Given the description of an element on the screen output the (x, y) to click on. 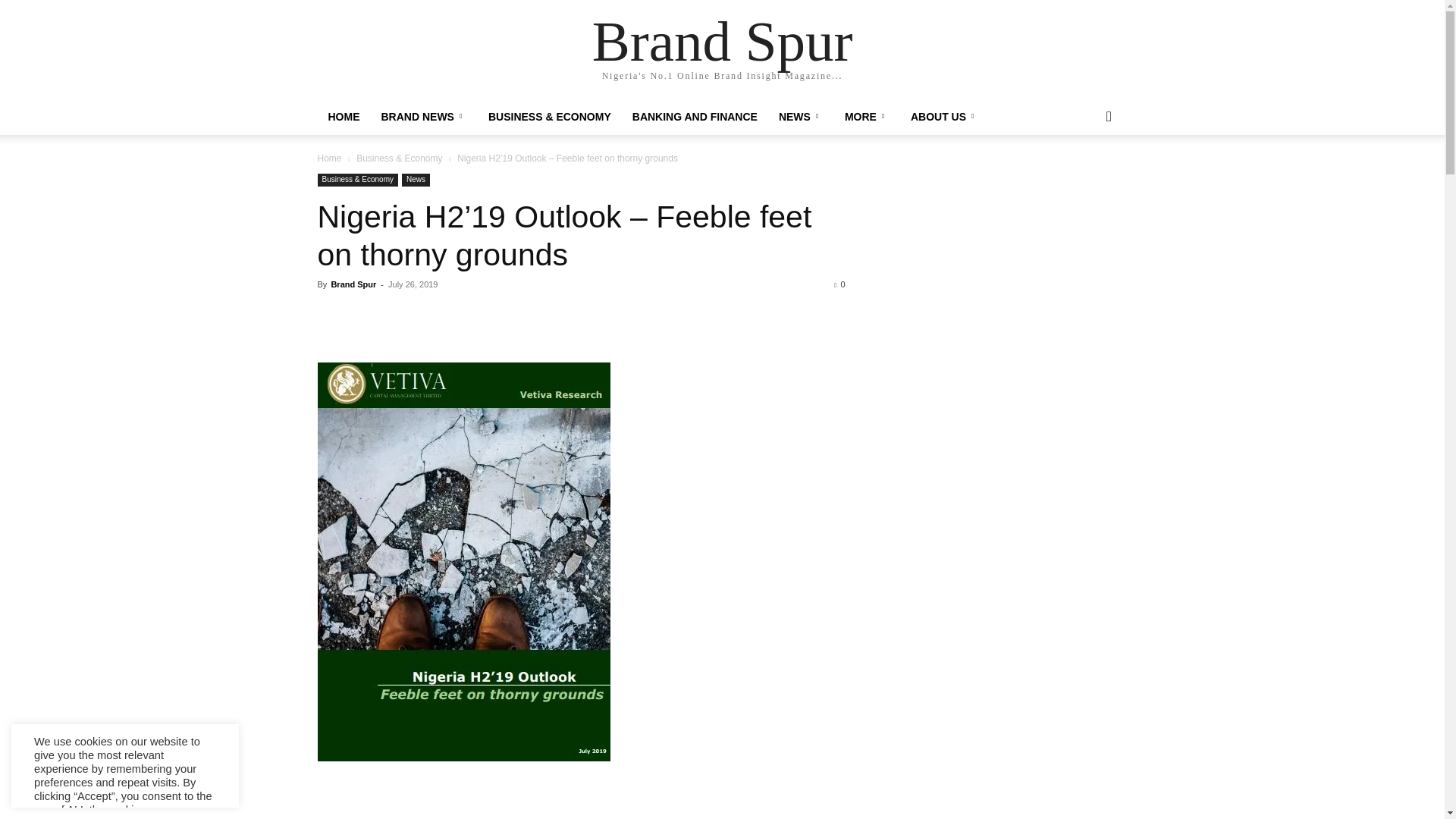
BRAND NEWS (423, 116)
HOME (343, 116)
Brand Spur (722, 41)
